Given the description of an element on the screen output the (x, y) to click on. 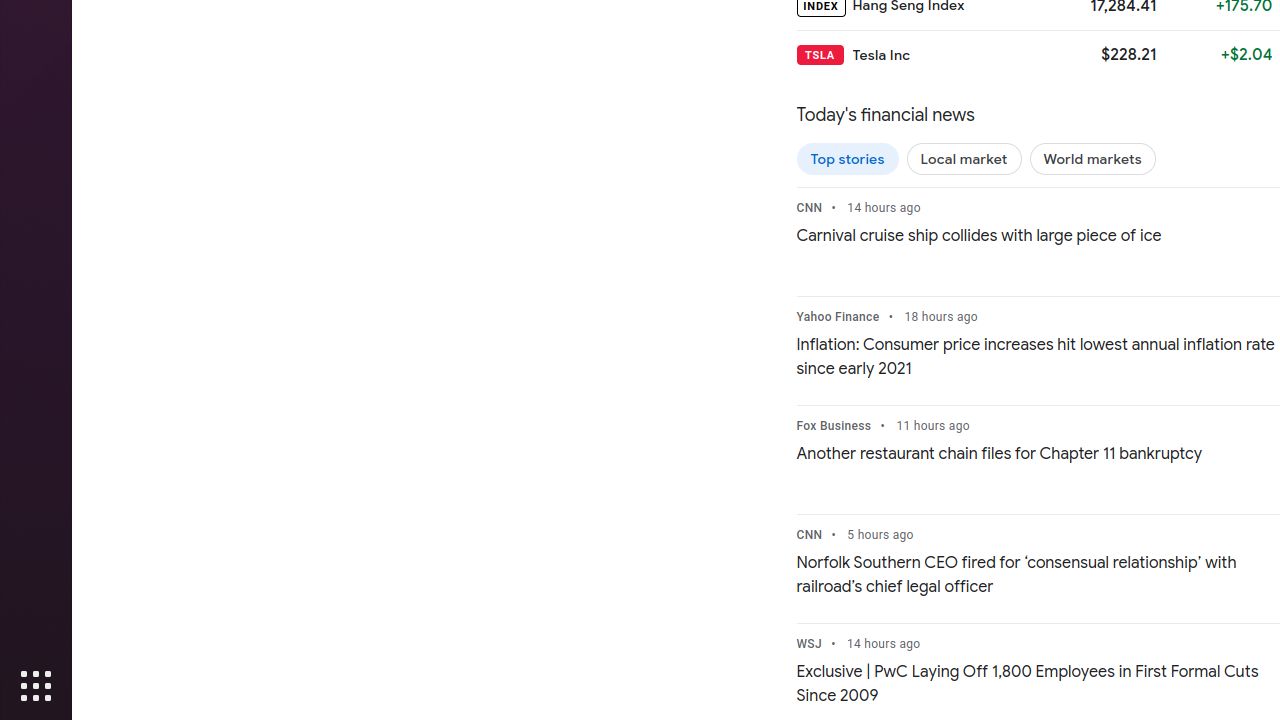
Top stories Element type: page-tab (847, 159)
Local market Element type: page-tab (964, 159)
Show Applications Element type: toggle-button (36, 686)
World markets Element type: page-tab (1092, 159)
